Given the description of an element on the screen output the (x, y) to click on. 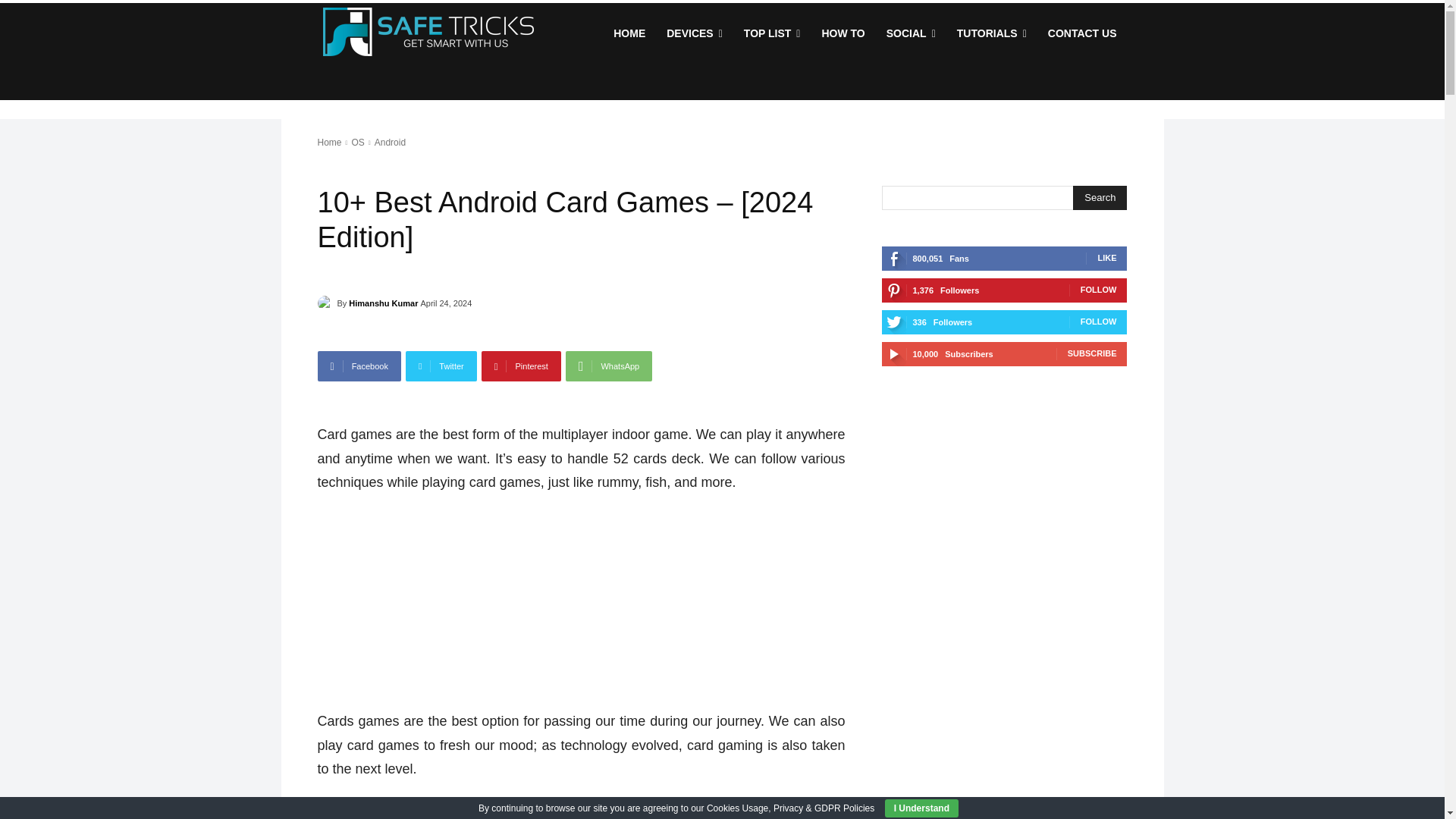
Advertisement (580, 809)
Facebook (358, 366)
Advertisement (580, 608)
Pinterest (520, 366)
SOCIAL (911, 33)
View all posts in OS (357, 142)
View all posts in Android (390, 142)
WhatsApp (609, 366)
HOW TO (842, 33)
DEVICES (694, 33)
TOP LIST (771, 33)
Twitter (441, 366)
Himanshu Kumar (326, 303)
